Given the description of an element on the screen output the (x, y) to click on. 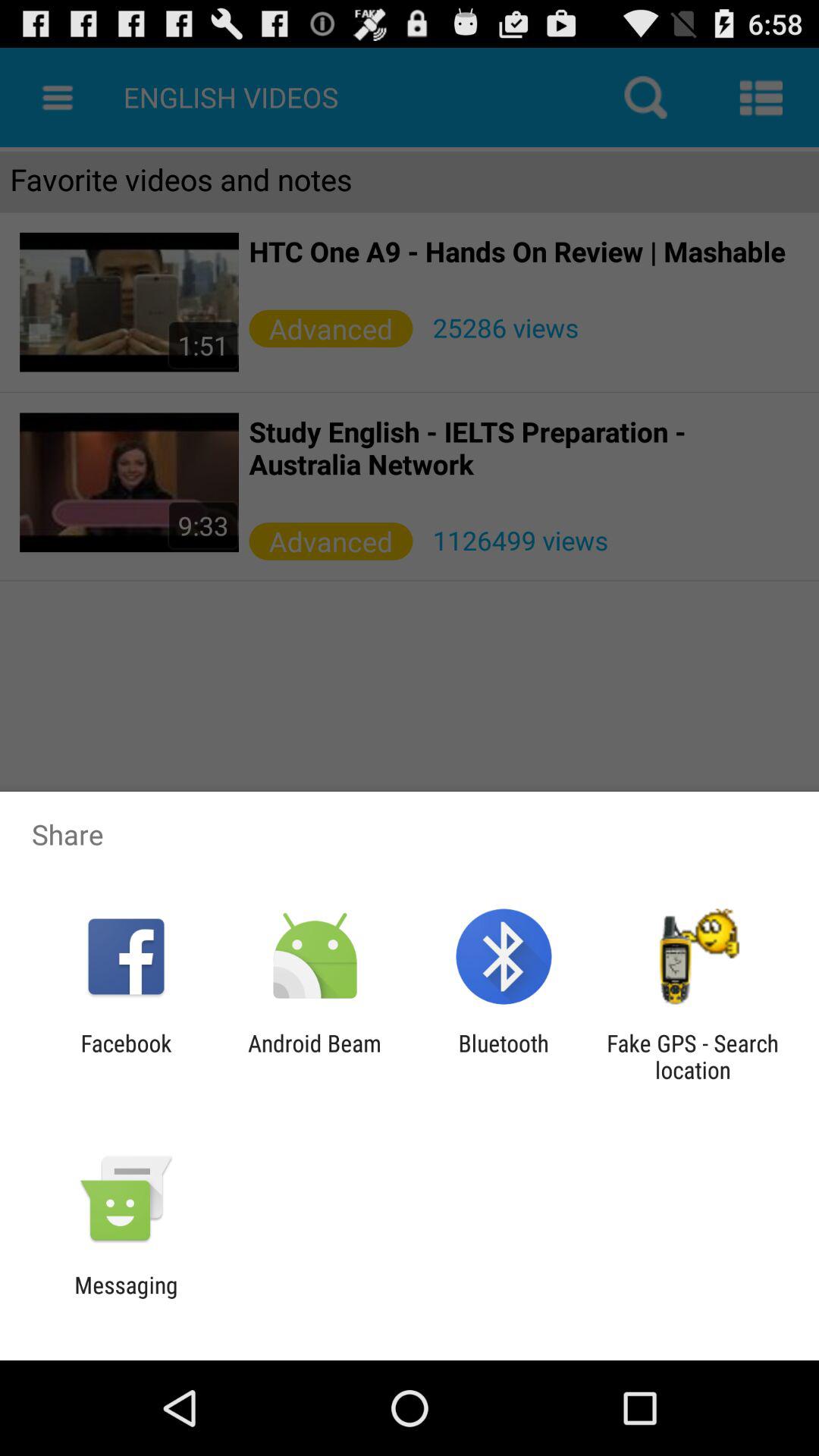
tap item next to bluetooth (314, 1056)
